Given the description of an element on the screen output the (x, y) to click on. 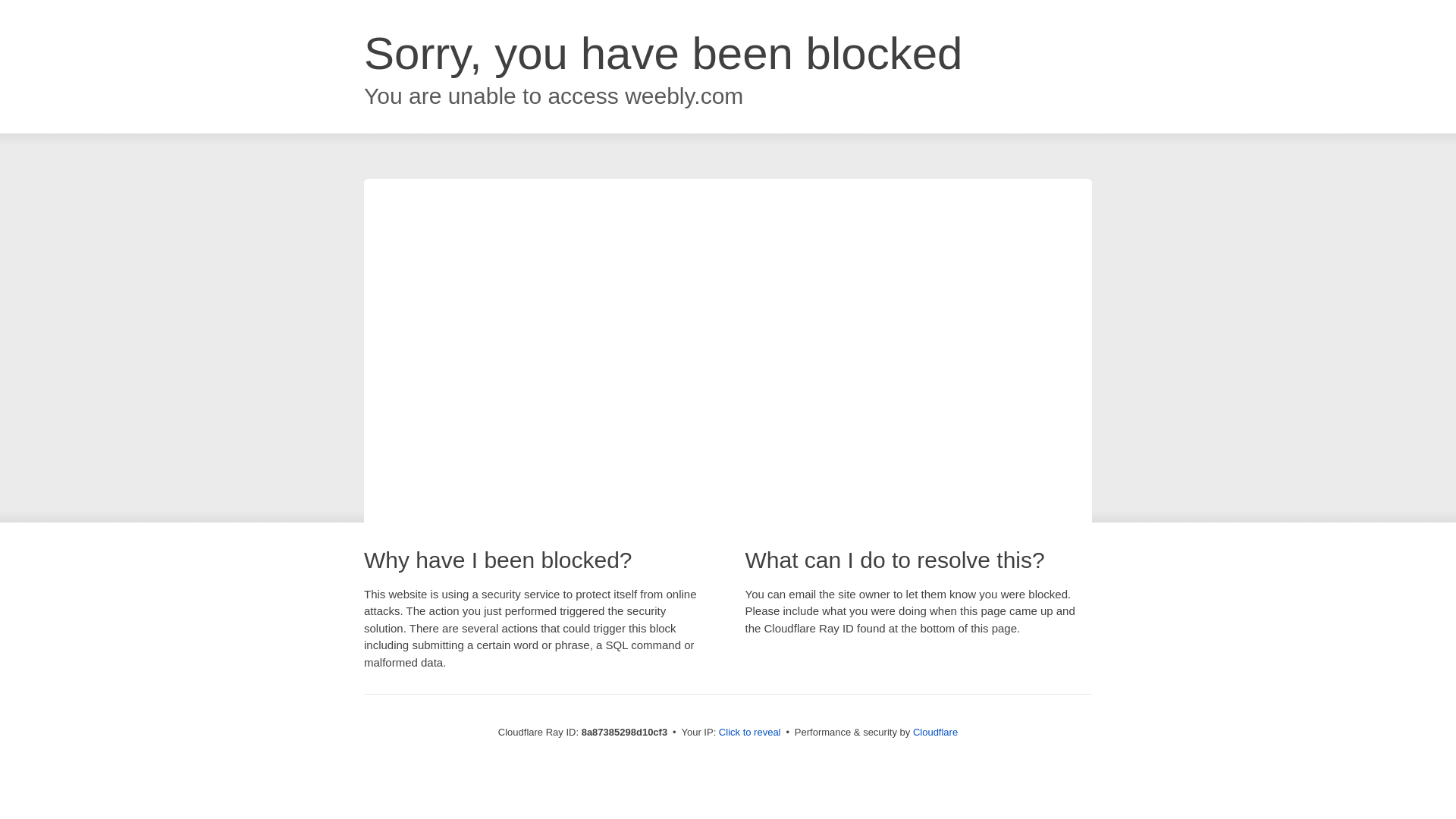
Click to reveal (749, 732)
Cloudflare (935, 731)
